Given the description of an element on the screen output the (x, y) to click on. 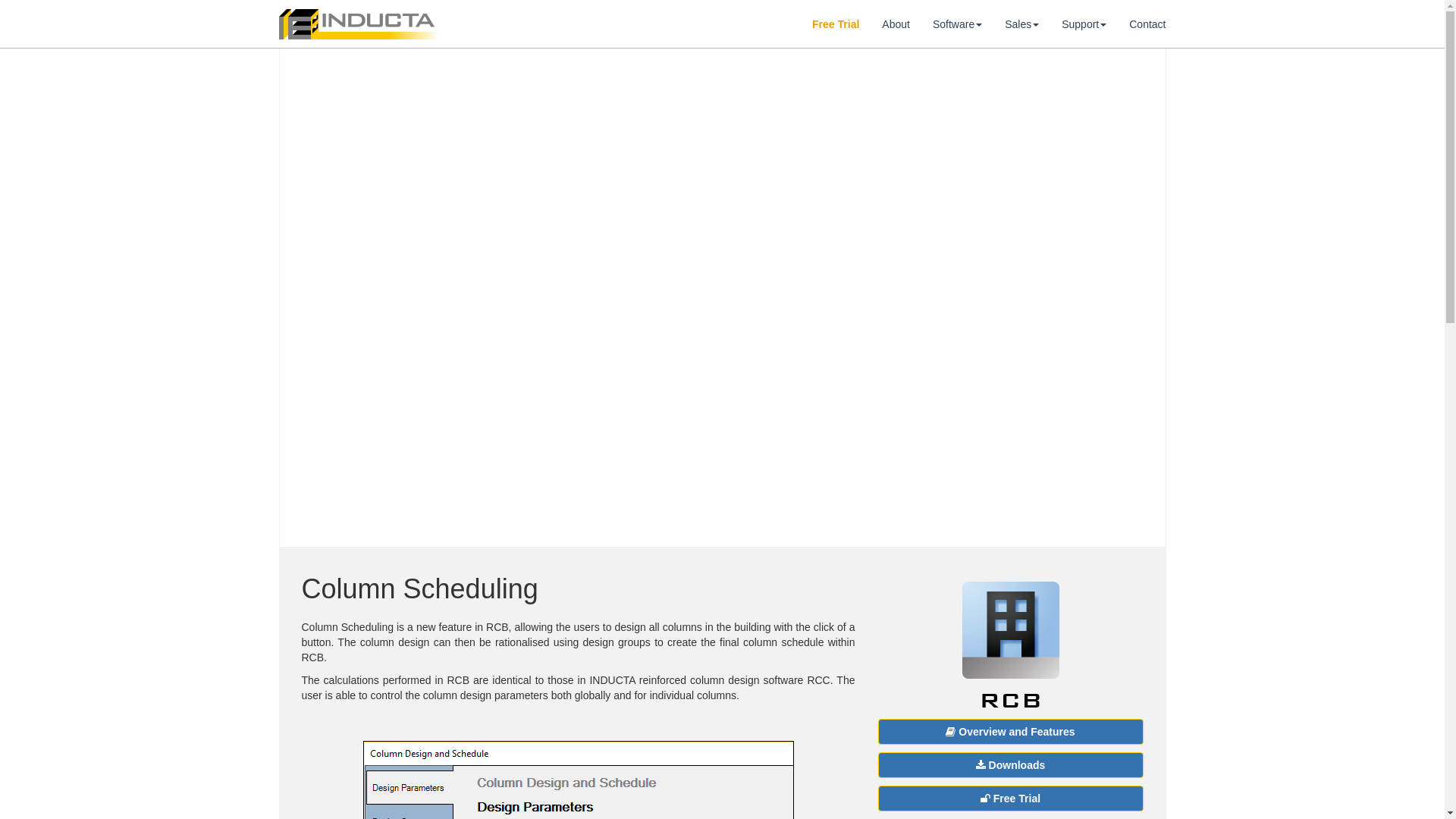
Free Trial Element type: text (1010, 798)
Sales Element type: text (1021, 17)
Free Trial Element type: text (835, 17)
Software Element type: text (957, 17)
Downloads Element type: text (1010, 765)
About Element type: text (895, 17)
Overview and Features Element type: text (1010, 731)
Contact Element type: text (1146, 17)
Support Element type: text (1083, 17)
